Given the description of an element on the screen output the (x, y) to click on. 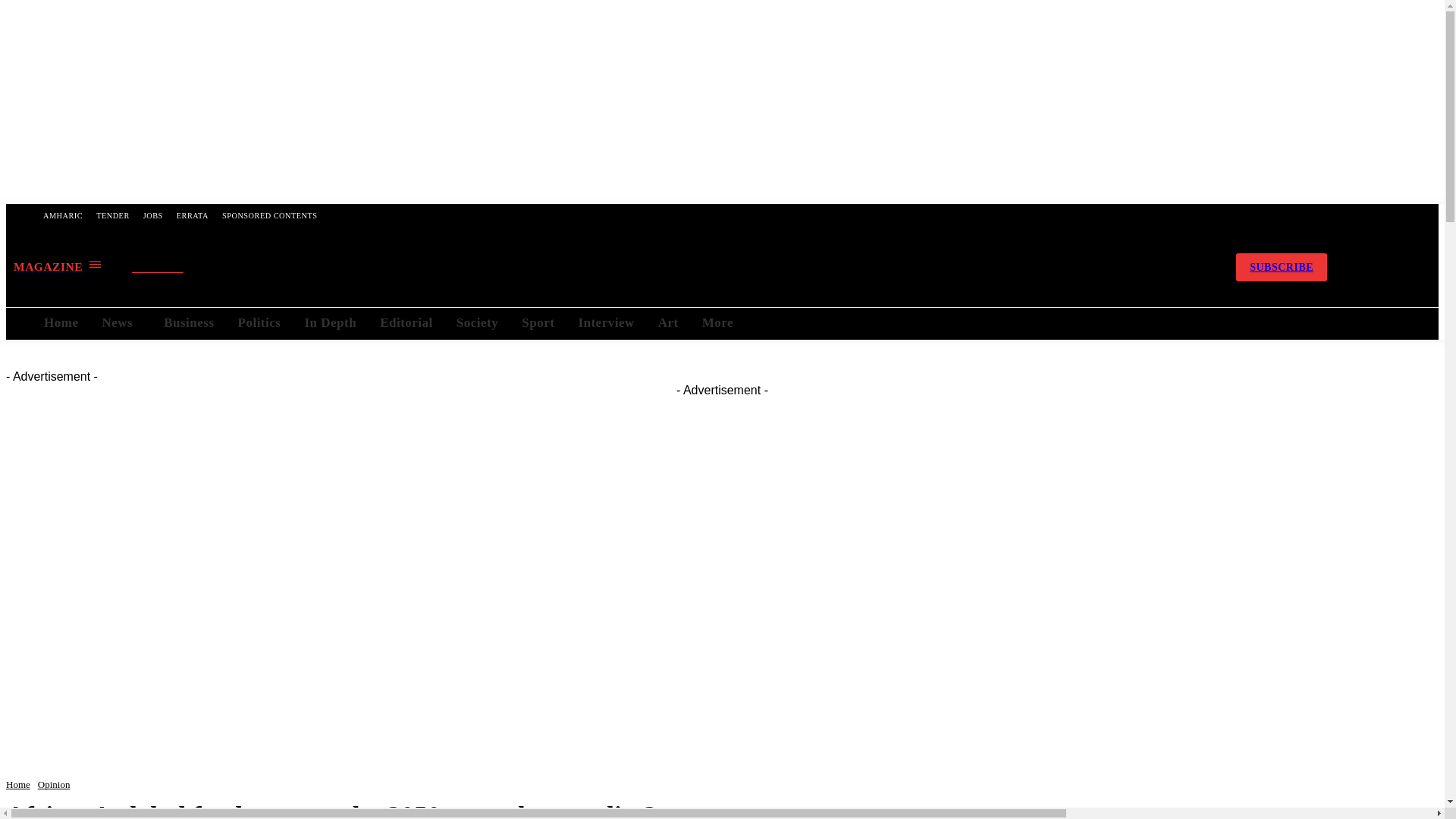
SPONSORED CONTENTS (269, 216)
MAGAZINE (57, 266)
The Reporter Ethiopia, Ethiopian News (670, 267)
Twitter (1161, 267)
The Reporter Ethiopia, Ethiopian News (670, 267)
SEARCH (170, 267)
Telegram (1122, 267)
AMHARIC (62, 216)
JOBS (153, 216)
Facebook (1082, 267)
